Given the description of an element on the screen output the (x, y) to click on. 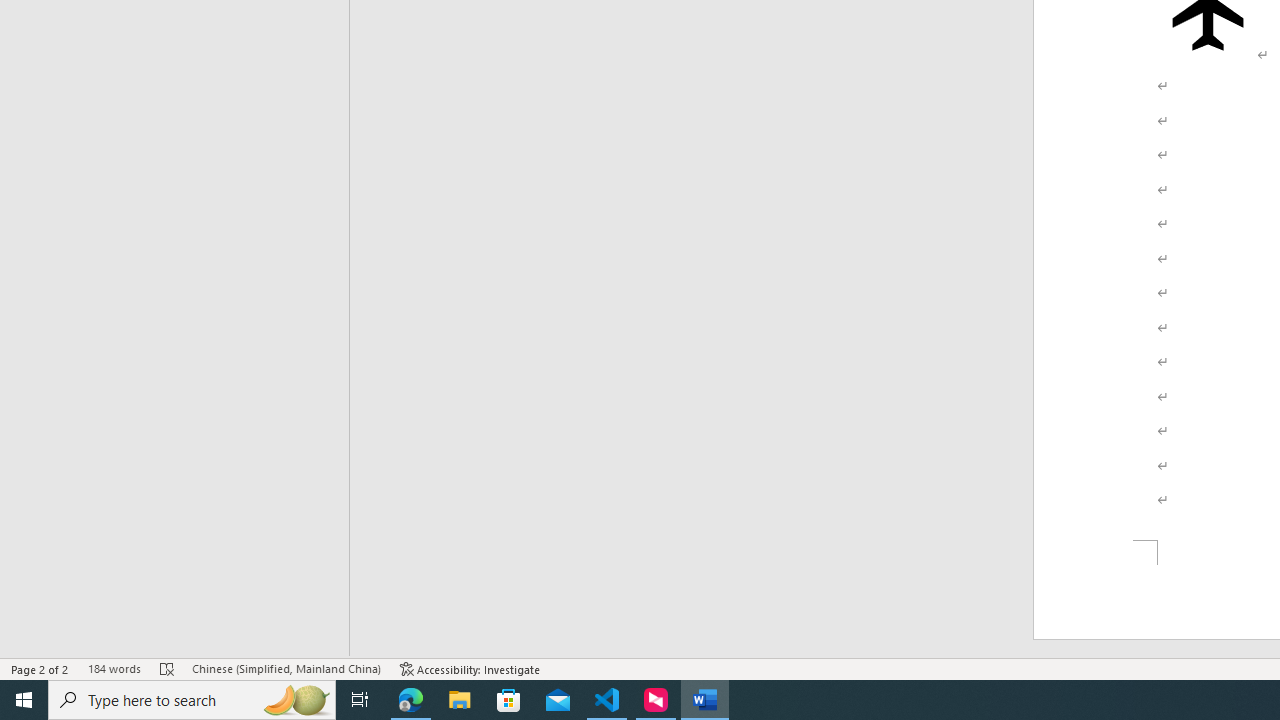
Page Number Page 2 of 2 (39, 668)
Word Count 184 words (113, 668)
